Given the description of an element on the screen output the (x, y) to click on. 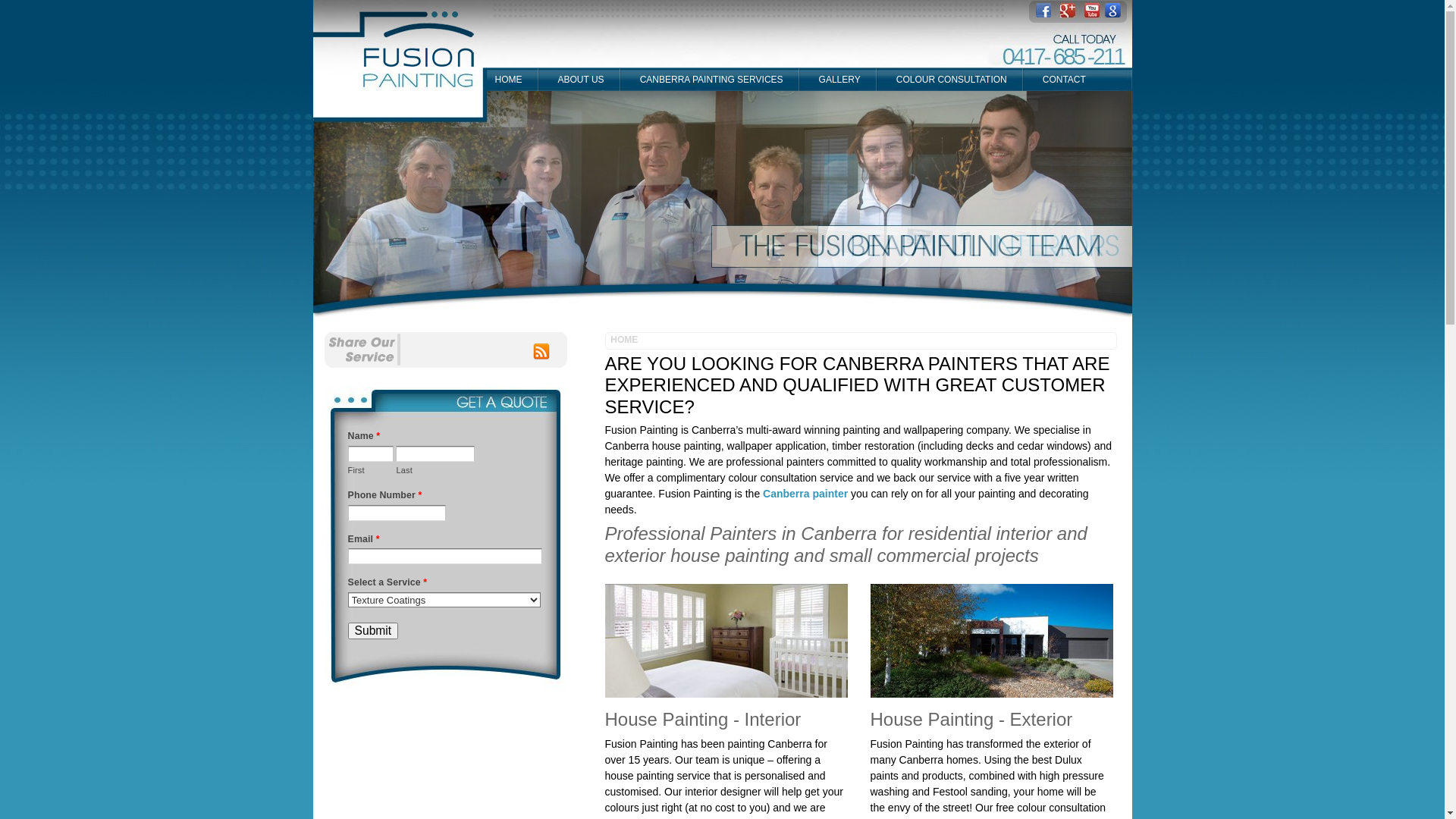
CONTACT Element type: text (1062, 79)
COLOUR CONSULTATION Element type: text (950, 79)
HOME Element type: text (626, 340)
Canberra painter Element type: text (804, 493)
HOME Element type: text (507, 79)
ABOUT US Element type: text (579, 79)
GALLERY Element type: text (838, 79)
CANBERRA PAINTING SERVICES Element type: text (710, 79)
